Given the description of an element on the screen output the (x, y) to click on. 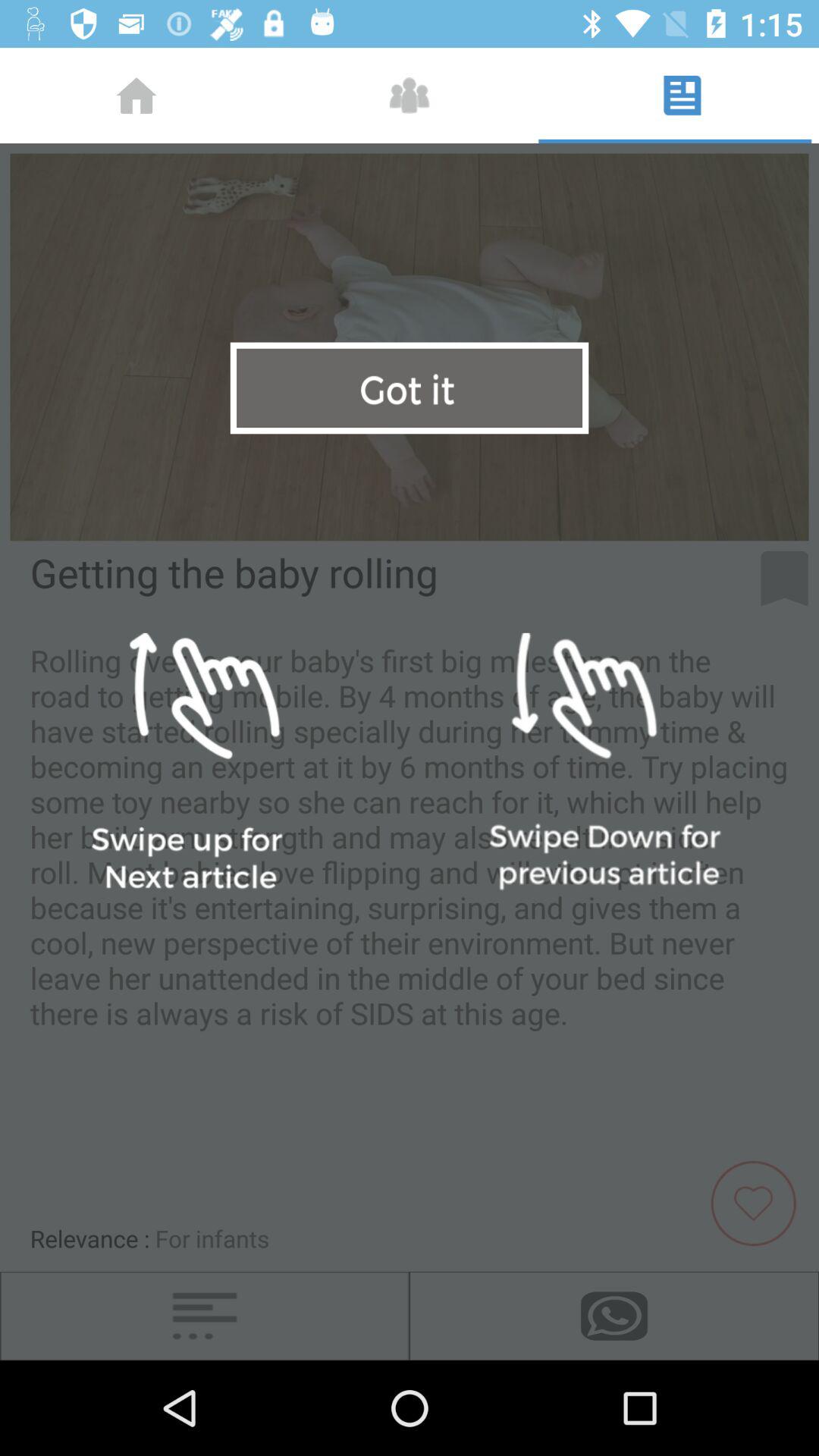
love (759, 1201)
